Given the description of an element on the screen output the (x, y) to click on. 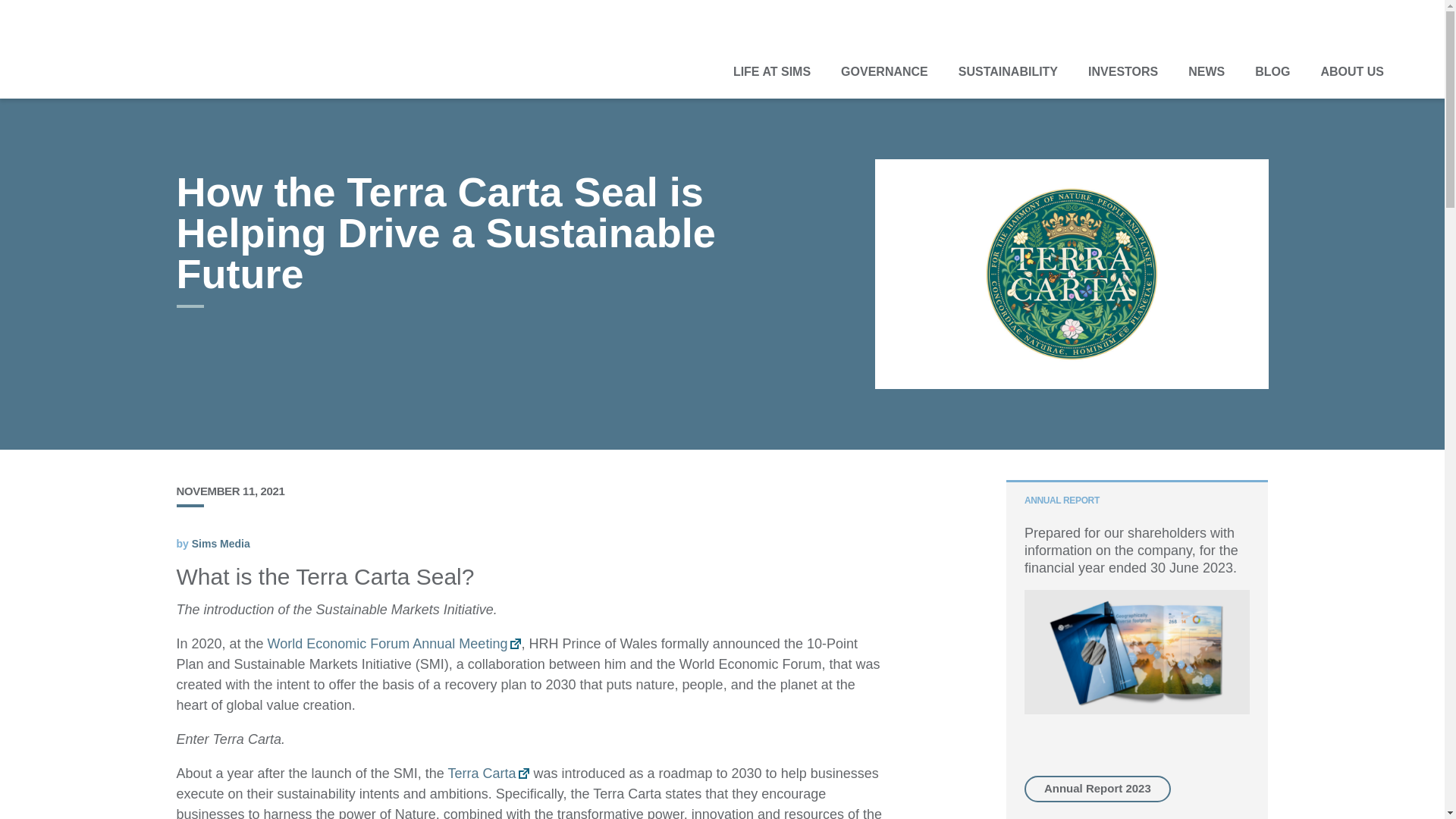
SUSTAINABILITY (1008, 71)
GOVERNANCE (884, 71)
NEWS (1206, 71)
Sims Limited (144, 57)
BLOG (1272, 71)
LIFE AT SIMS (771, 71)
INVESTORS (1123, 71)
